Given the description of an element on the screen output the (x, y) to click on. 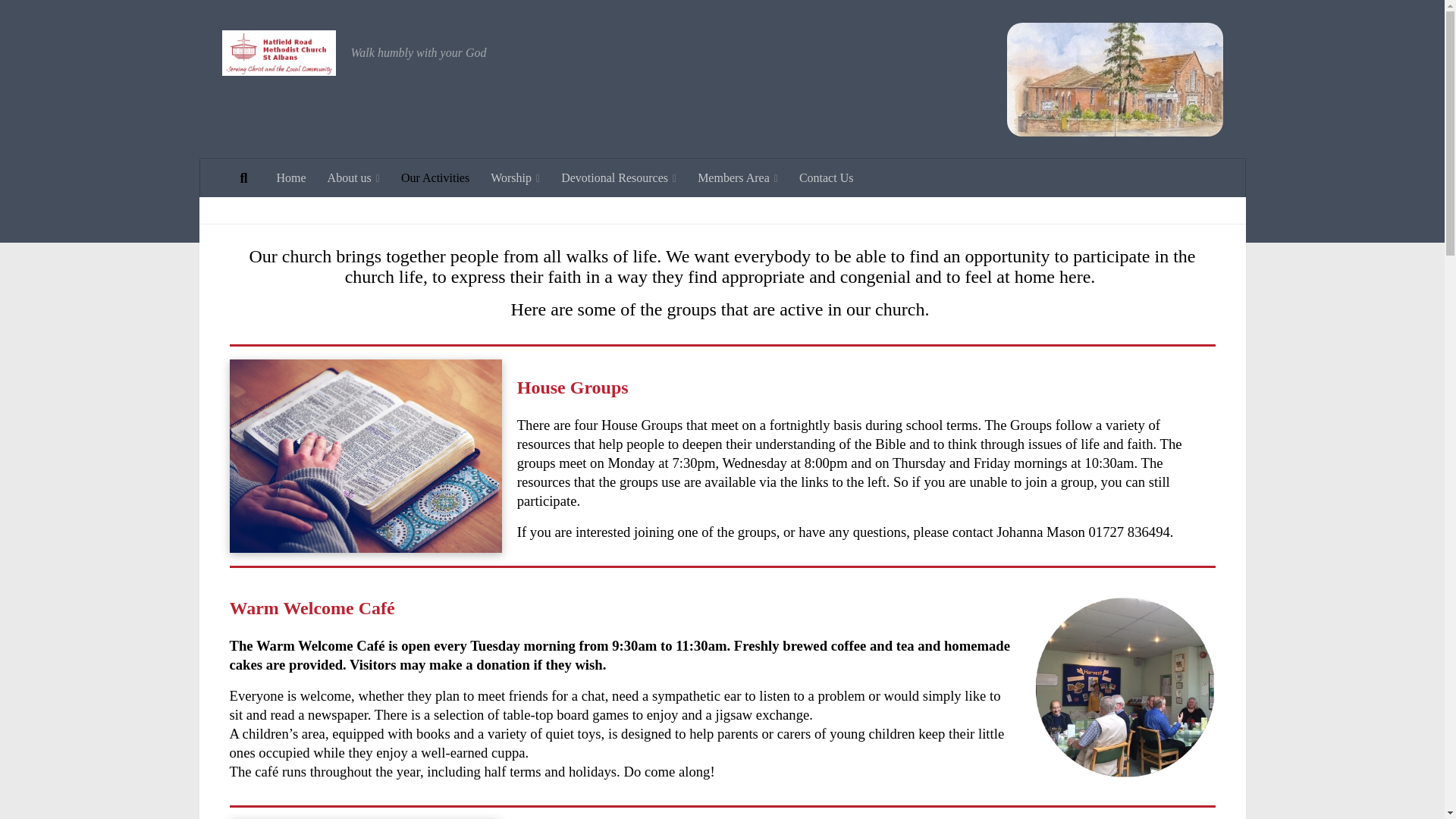
Cafe Circle (1123, 686)
bible1 (364, 455)
Skip to content (59, 20)
Home (289, 177)
church watercolour no spacer (1115, 79)
